Given the description of an element on the screen output the (x, y) to click on. 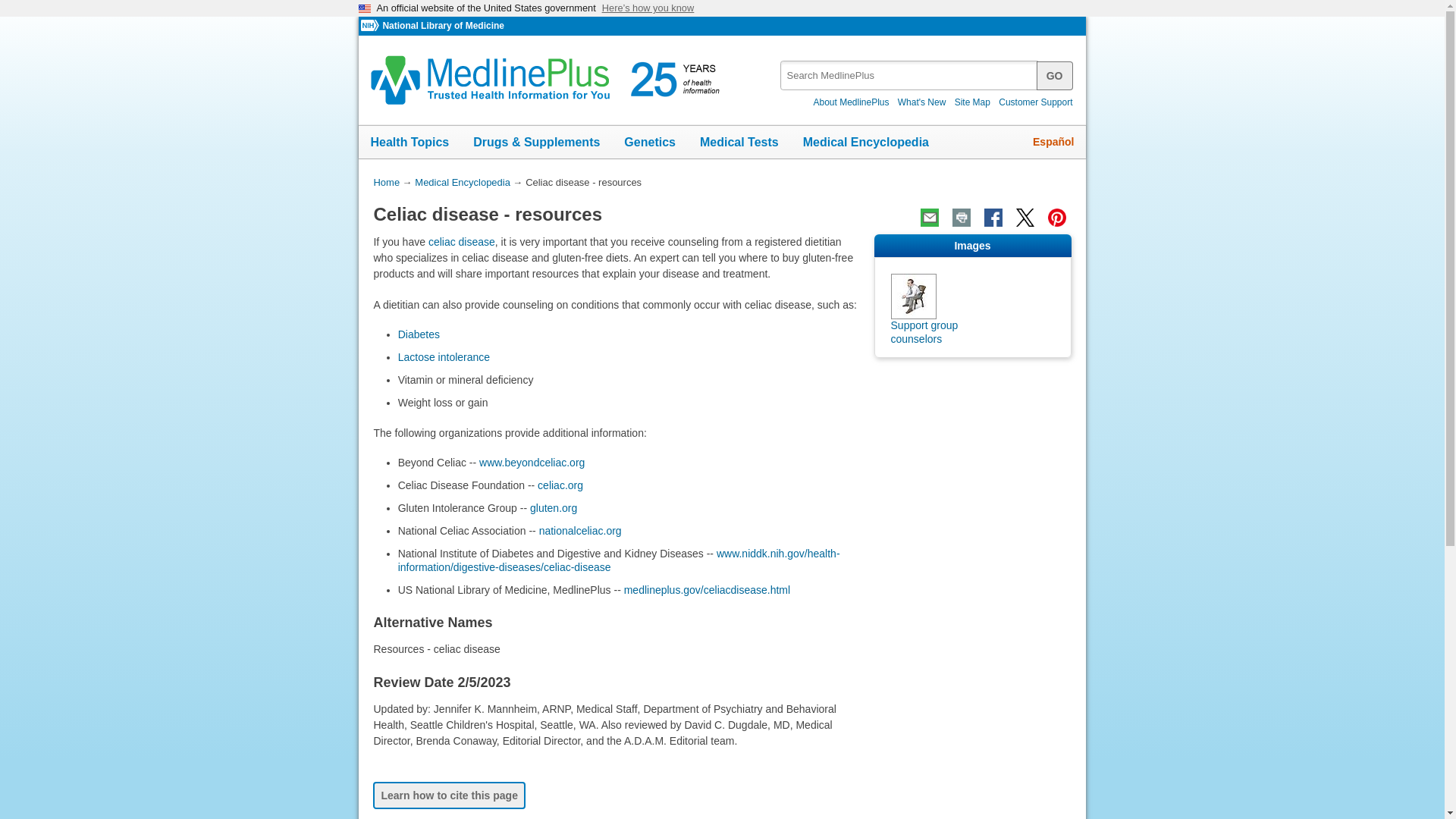
Medical Encyclopedia (462, 182)
Medical Encyclopedia (865, 142)
Customer Support (1035, 102)
Health Topics (409, 142)
Print (961, 217)
gluten.org (552, 508)
External link: please review our privacy policy. (532, 462)
X (1024, 217)
Site Search input (909, 75)
Home (385, 182)
What's New (922, 102)
Search MedlinePlus (1054, 74)
nationalceliac.org (579, 530)
External link: please review our privacy policy. (579, 530)
